Given the description of an element on the screen output the (x, y) to click on. 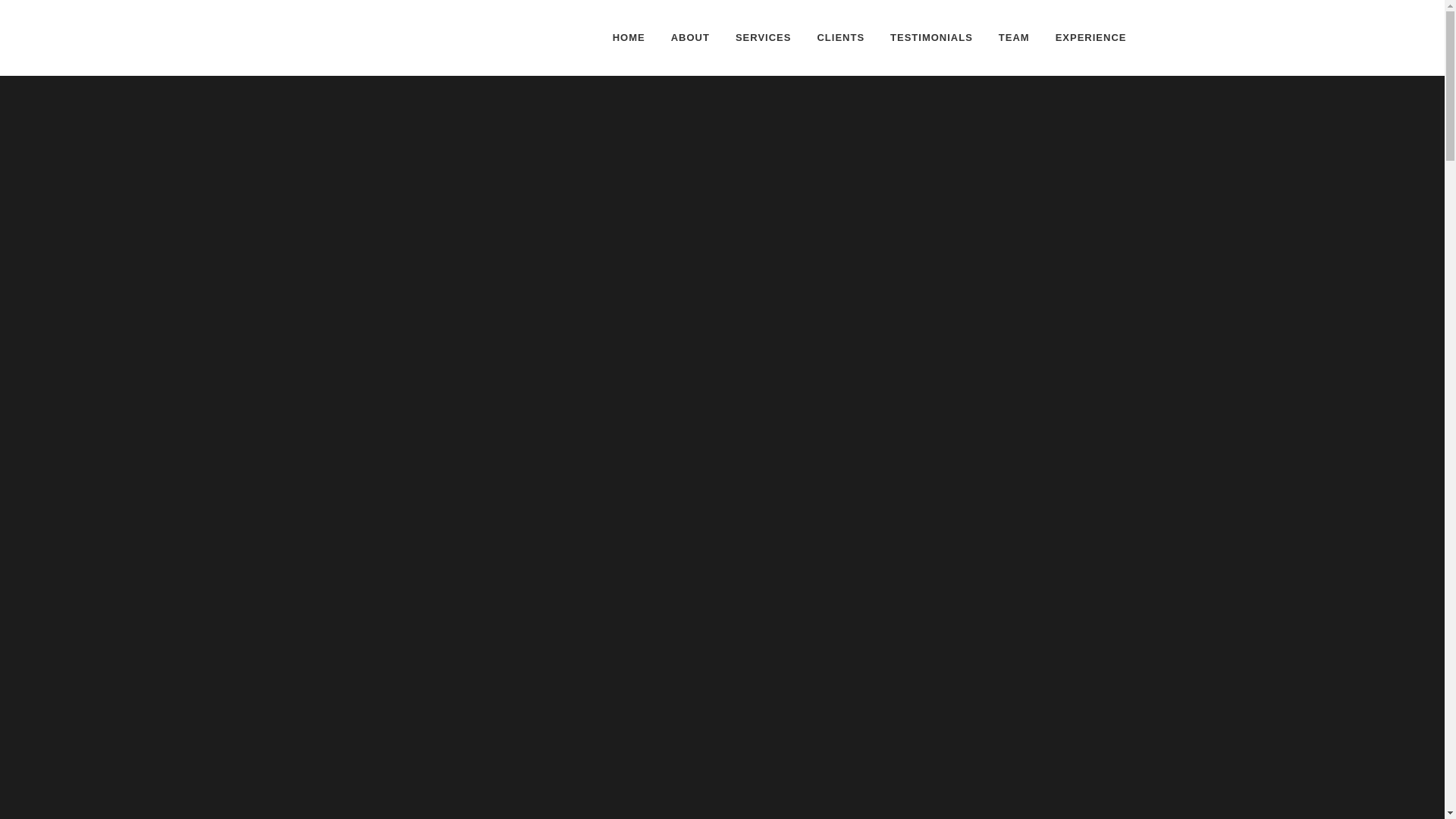
SERVICES (763, 38)
CLIENTS (840, 38)
TESTIMONIALS (931, 38)
EXPERIENCE (1091, 38)
